Given the description of an element on the screen output the (x, y) to click on. 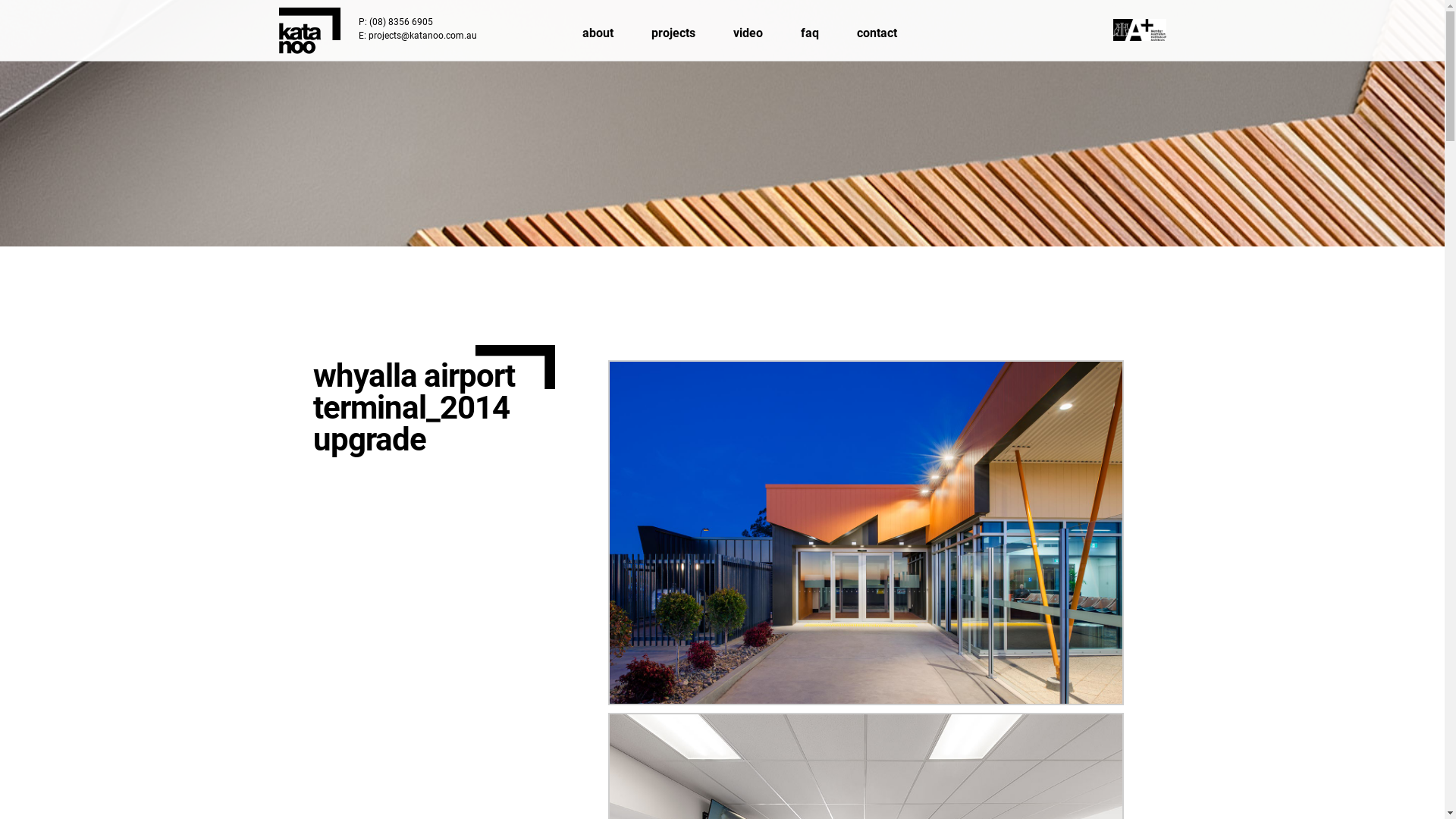
projects@katanoo.com.au Element type: text (422, 35)
Katanoo Architects Element type: hover (309, 30)
